Given the description of an element on the screen output the (x, y) to click on. 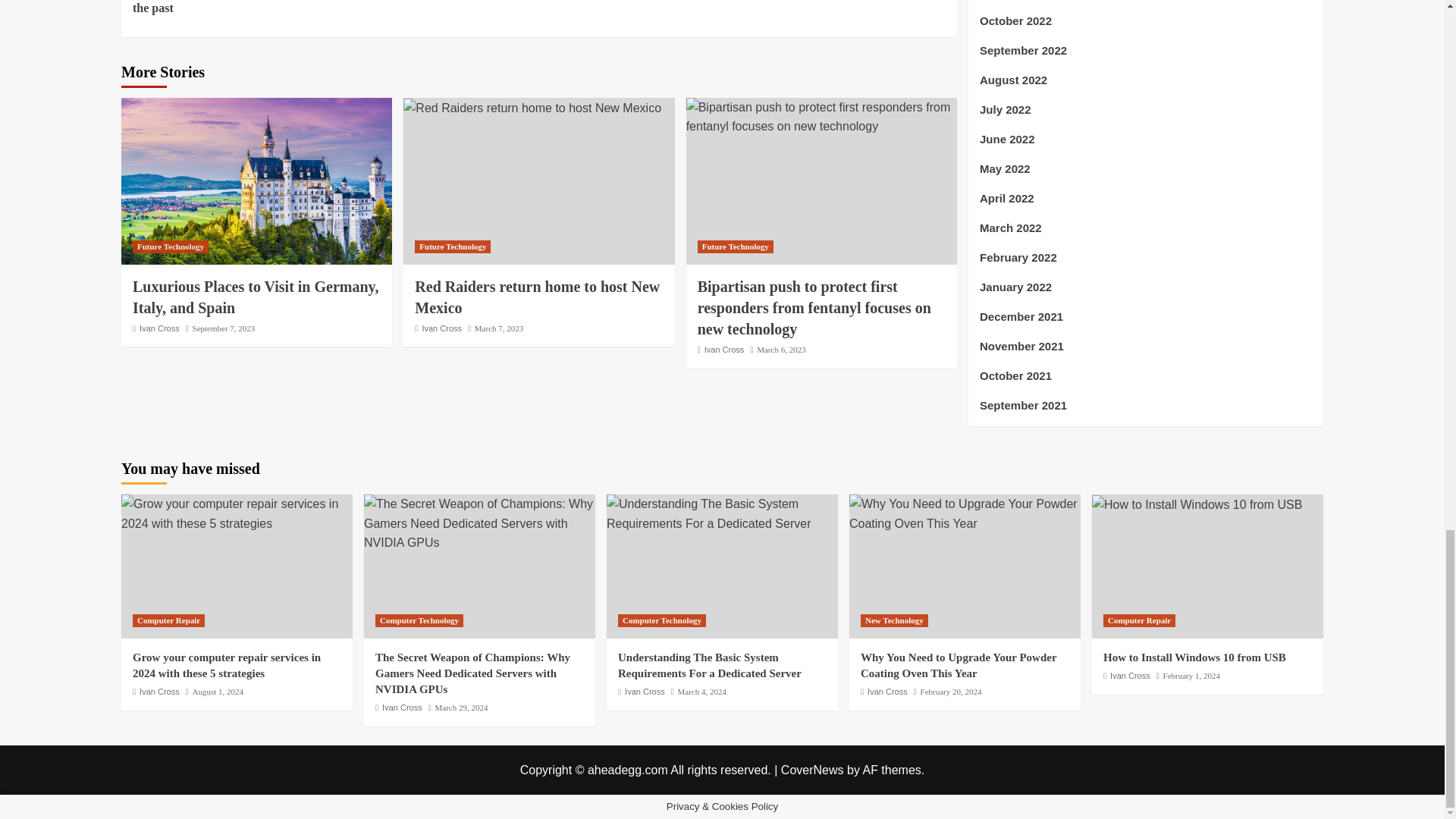
Future Technology (170, 246)
Luxurious Places to Visit in Germany, Italy, and Spain (255, 297)
Luxurious Places to Visit in Germany, Italy, and Spain (255, 180)
How to Install Windows 10 from USB (1196, 505)
Why You Need to Upgrade Your Powder Coating Oven This Year (964, 513)
September 7, 2023 (224, 327)
Ivan Cross (159, 327)
